Given the description of an element on the screen output the (x, y) to click on. 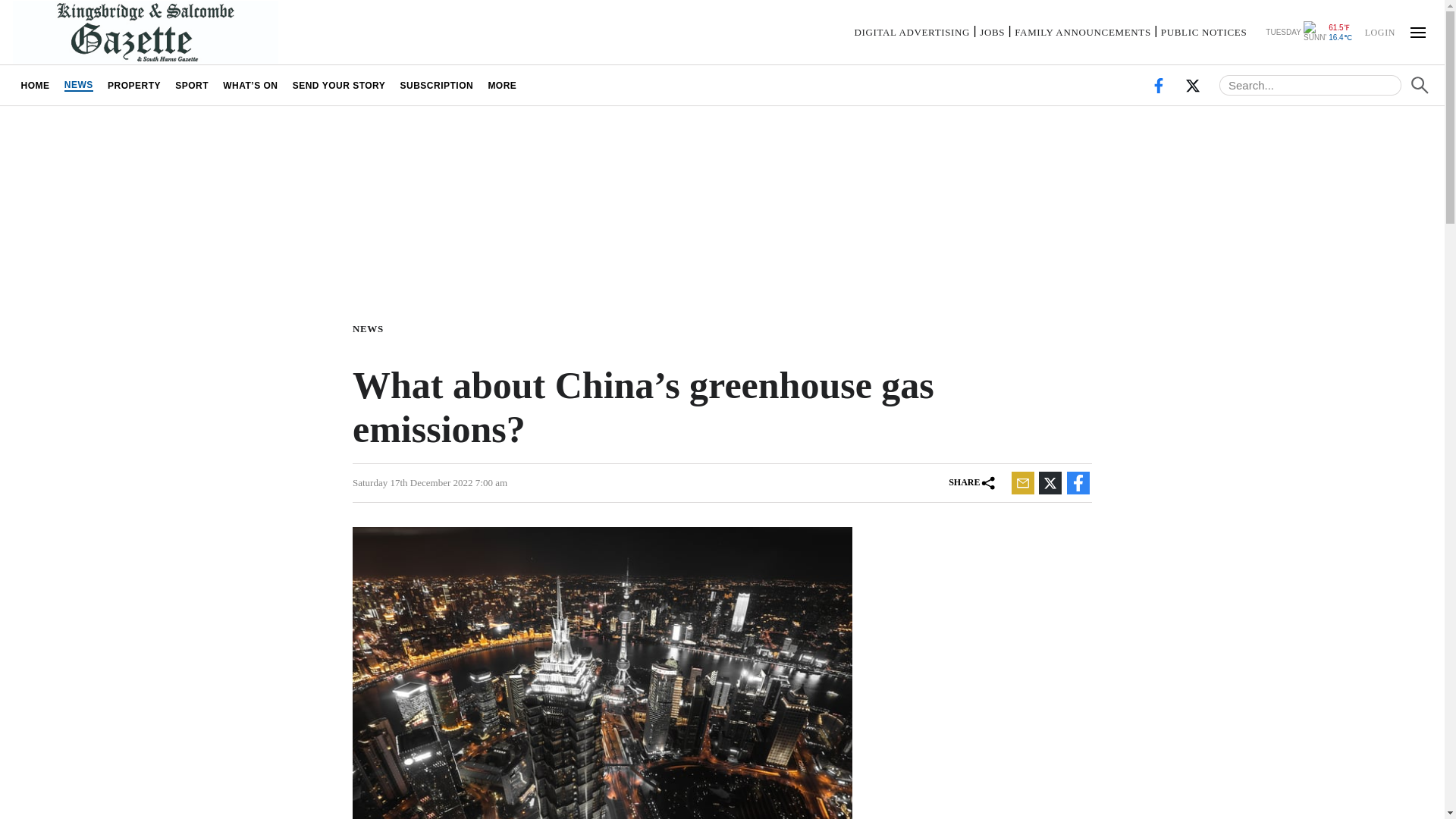
HOME (34, 85)
MORE (502, 85)
PUBLIC NOTICES (1203, 32)
NEWS (78, 85)
NEWS (371, 328)
SPORT (191, 85)
LOGIN (1379, 31)
SEND YOUR STORY (339, 85)
SUBSCRIPTION (436, 85)
PROPERTY (133, 85)
